Given the description of an element on the screen output the (x, y) to click on. 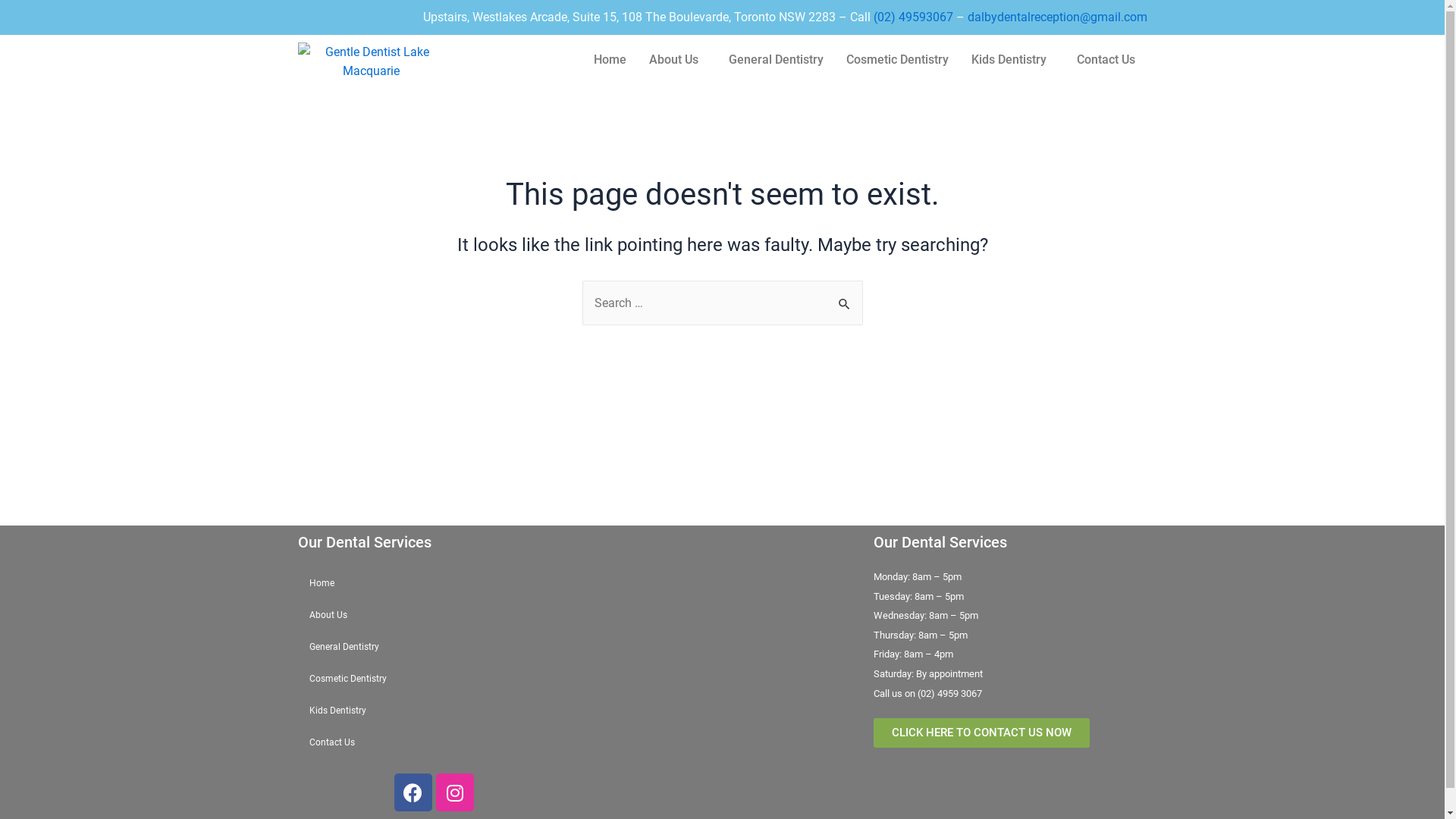
Home Element type: text (433, 583)
Contact Us Element type: text (1105, 59)
Contact Us Element type: text (433, 742)
Kids Dentistry Element type: text (1012, 59)
Cosmetic Dentistry Element type: text (897, 59)
General Dentistry Element type: text (433, 646)
About Us Element type: text (433, 614)
CLICK HERE TO CONTACT US NOW Element type: text (981, 732)
About Us Element type: text (677, 59)
Home Element type: text (609, 59)
Search Element type: text (845, 296)
General Dentistry Element type: text (775, 59)
dalbydentalreception@gmail.com Element type: text (1057, 16)
Kids Dentistry Element type: text (433, 710)
Cosmetic Dentistry Element type: text (433, 678)
(02) 49593067 Element type: text (913, 16)
